Given the description of an element on the screen output the (x, y) to click on. 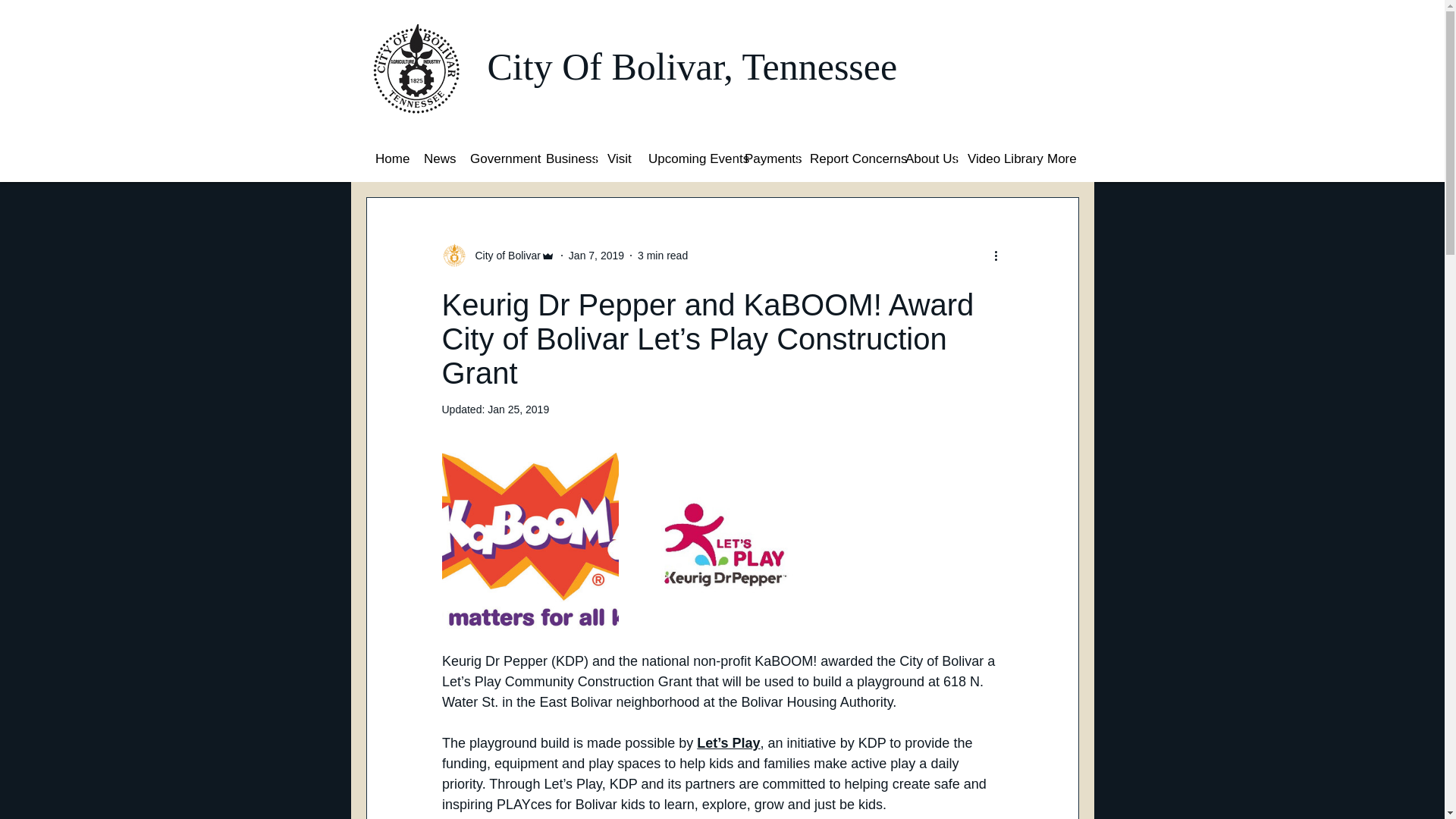
Video Library (995, 158)
Jan 25, 2019 (517, 409)
3 min read (662, 254)
Home (387, 158)
Payments (764, 158)
City of Bolivar (502, 254)
City of Bolivar (497, 255)
Visit (615, 158)
Report Concerns (845, 158)
About Us (924, 158)
